Given the description of an element on the screen output the (x, y) to click on. 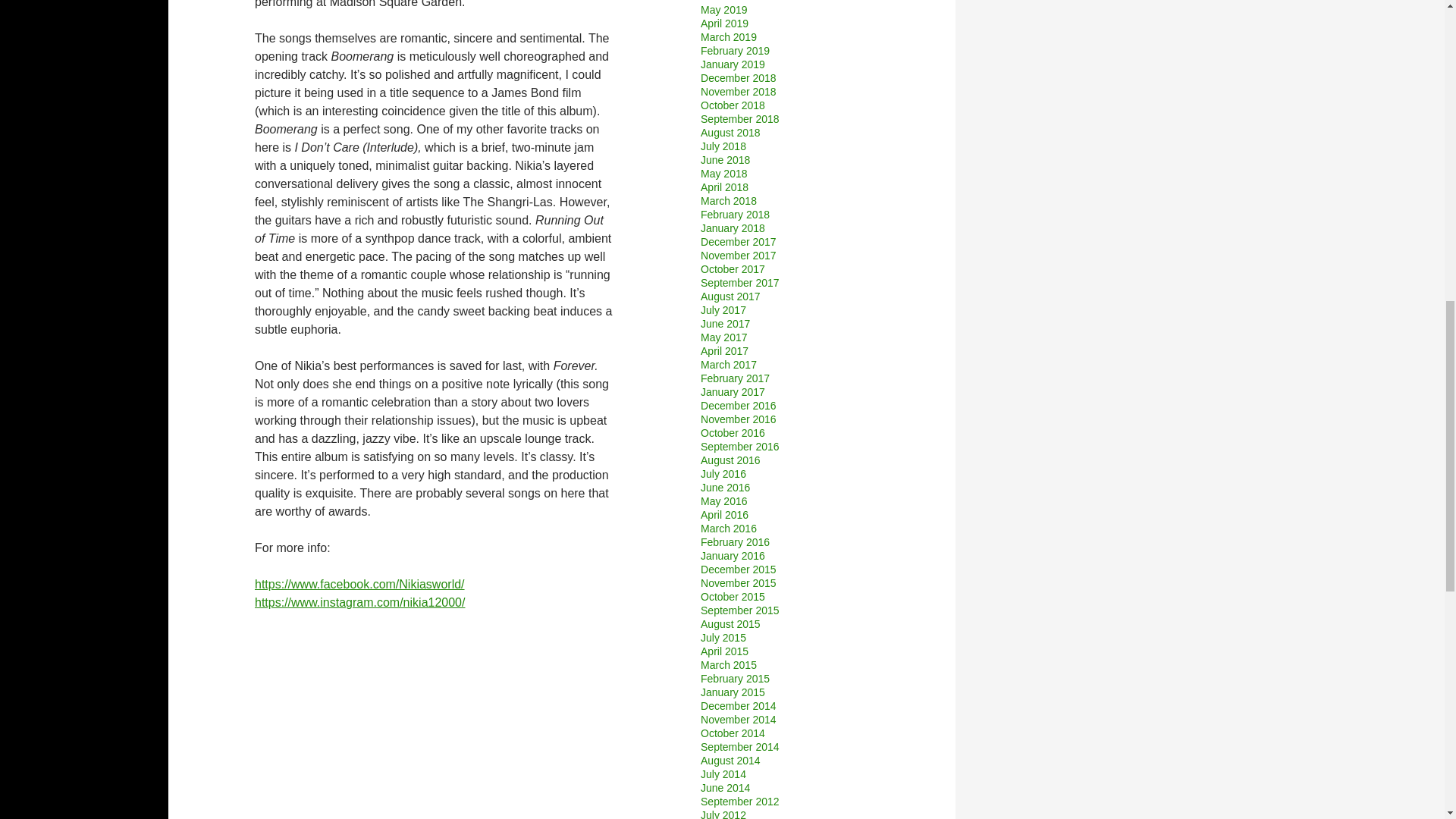
Spotify Embed: For Your Eyes Only (434, 724)
